Given the description of an element on the screen output the (x, y) to click on. 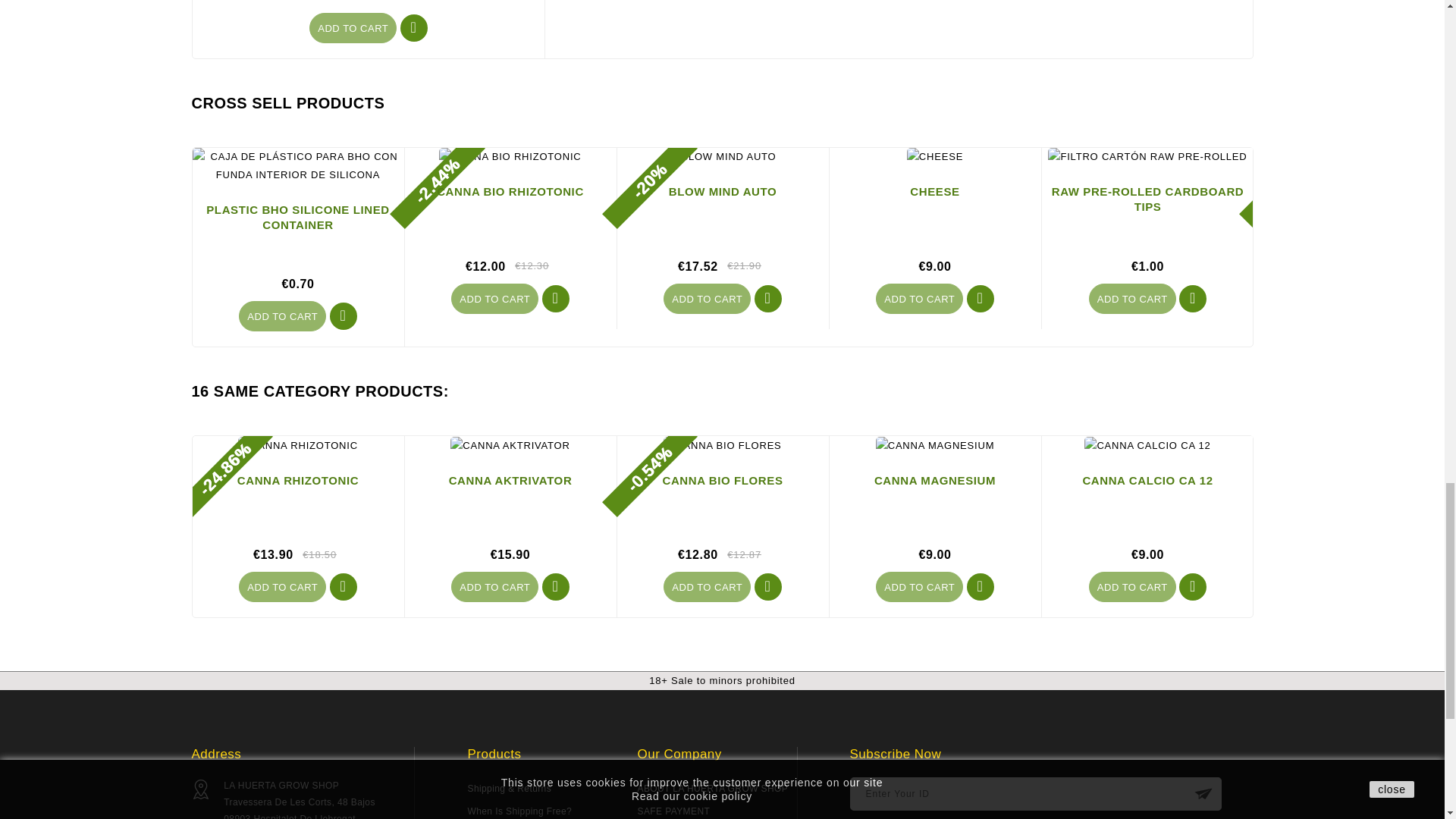
Subscribe (1204, 793)
